Given the description of an element on the screen output the (x, y) to click on. 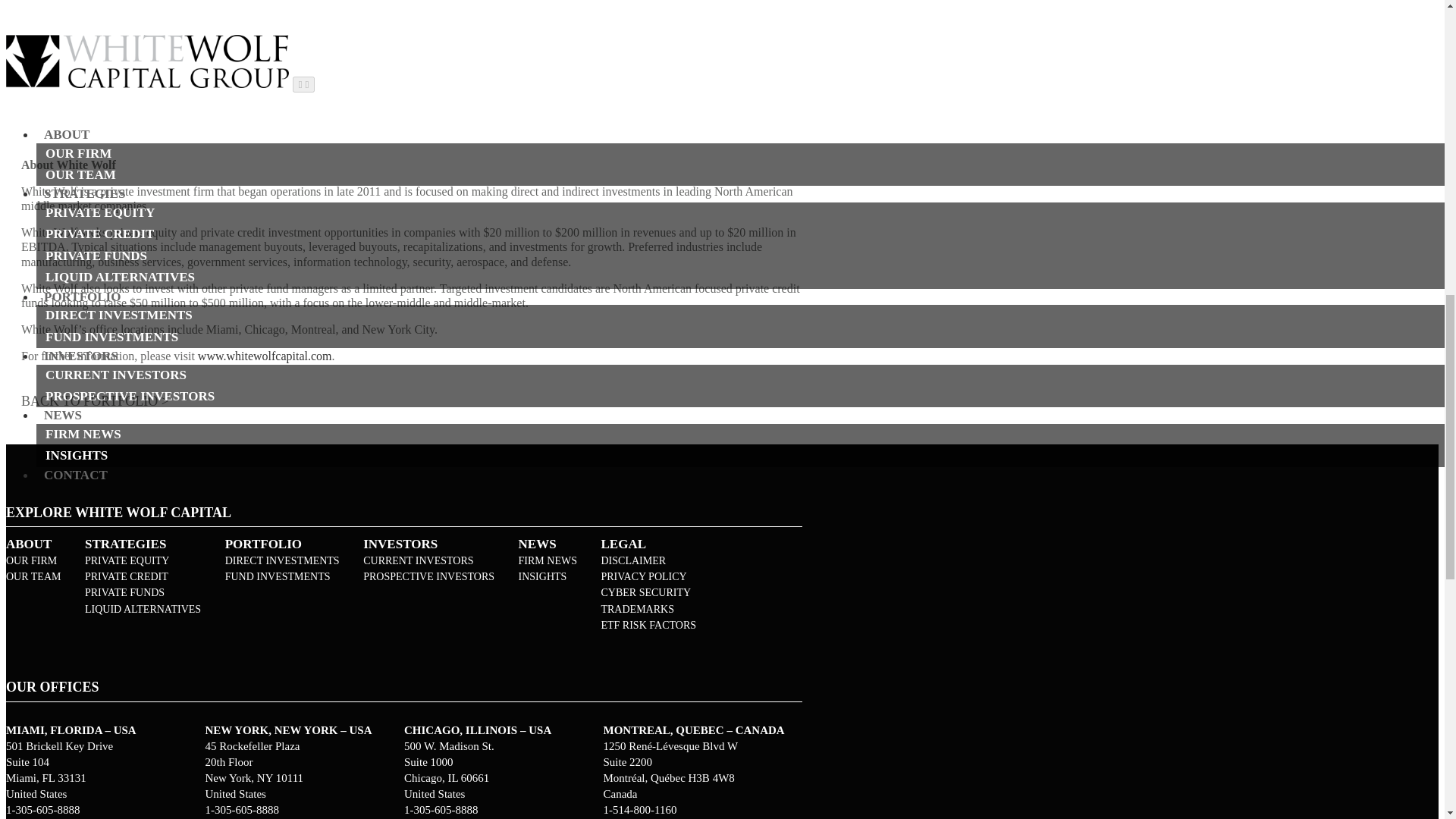
LIQUID ALTERNATIVES (142, 609)
OUR FIRM (33, 561)
PROSPECTIVE INVESTORS (428, 577)
PRIVATE EQUITY (142, 561)
NEWS (547, 544)
ETF RISK FACTORS (647, 625)
DISCLAIMER (647, 561)
PRIVATE CREDIT (142, 577)
PRIVATE FUNDS (142, 593)
TRADEMARKS (647, 609)
OUR TEAM (33, 577)
FIRM NEWS (547, 561)
INSIGHTS (547, 577)
PRIVACY POLICY (647, 577)
www.whitewolfcapital.com (264, 355)
